Given the description of an element on the screen output the (x, y) to click on. 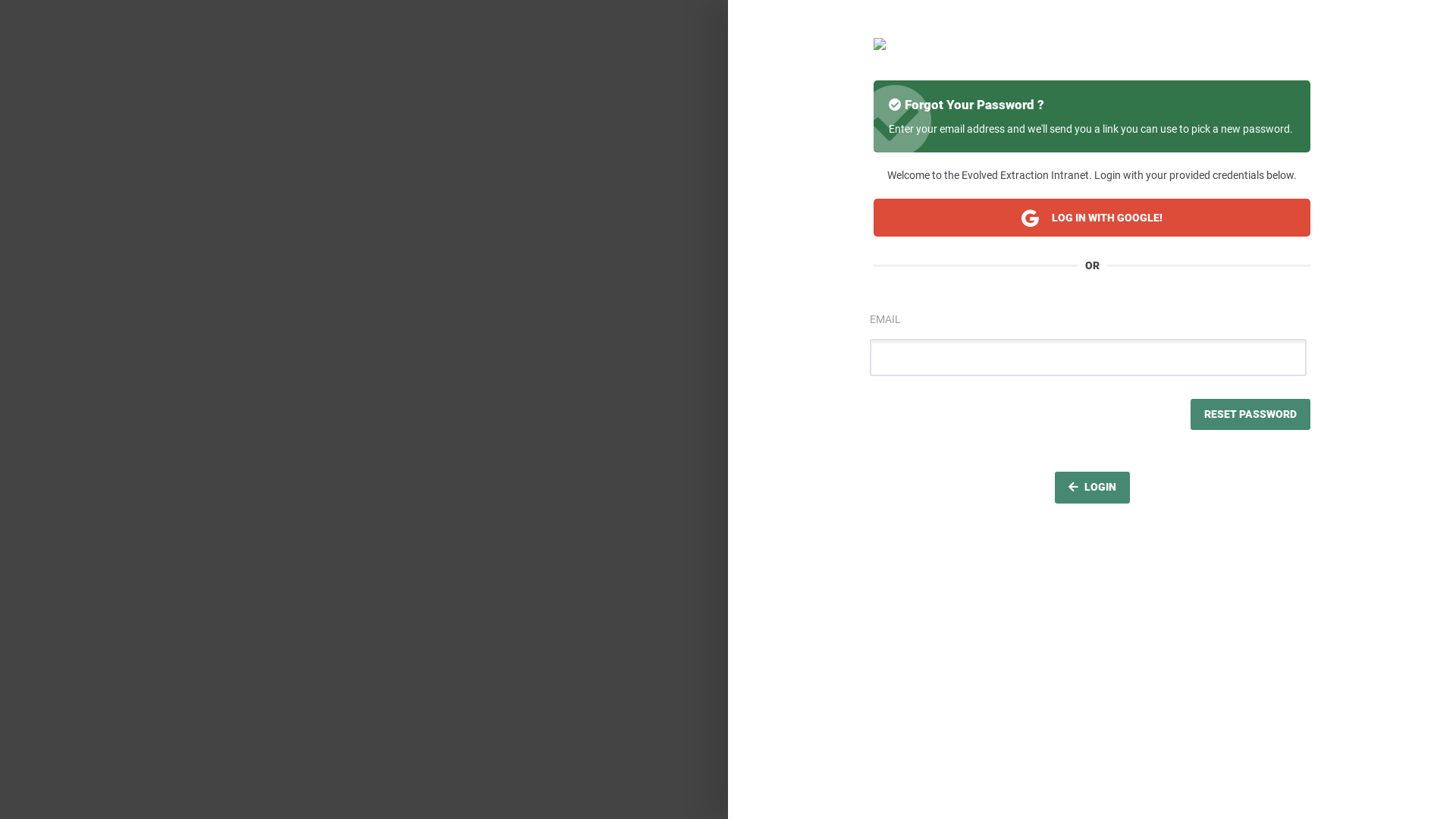
LOG IN WITH GOOGLE! Element type: text (1091, 217)
Reset Password Element type: text (1250, 414)
LOGIN Element type: text (1091, 487)
